Given the description of an element on the screen output the (x, y) to click on. 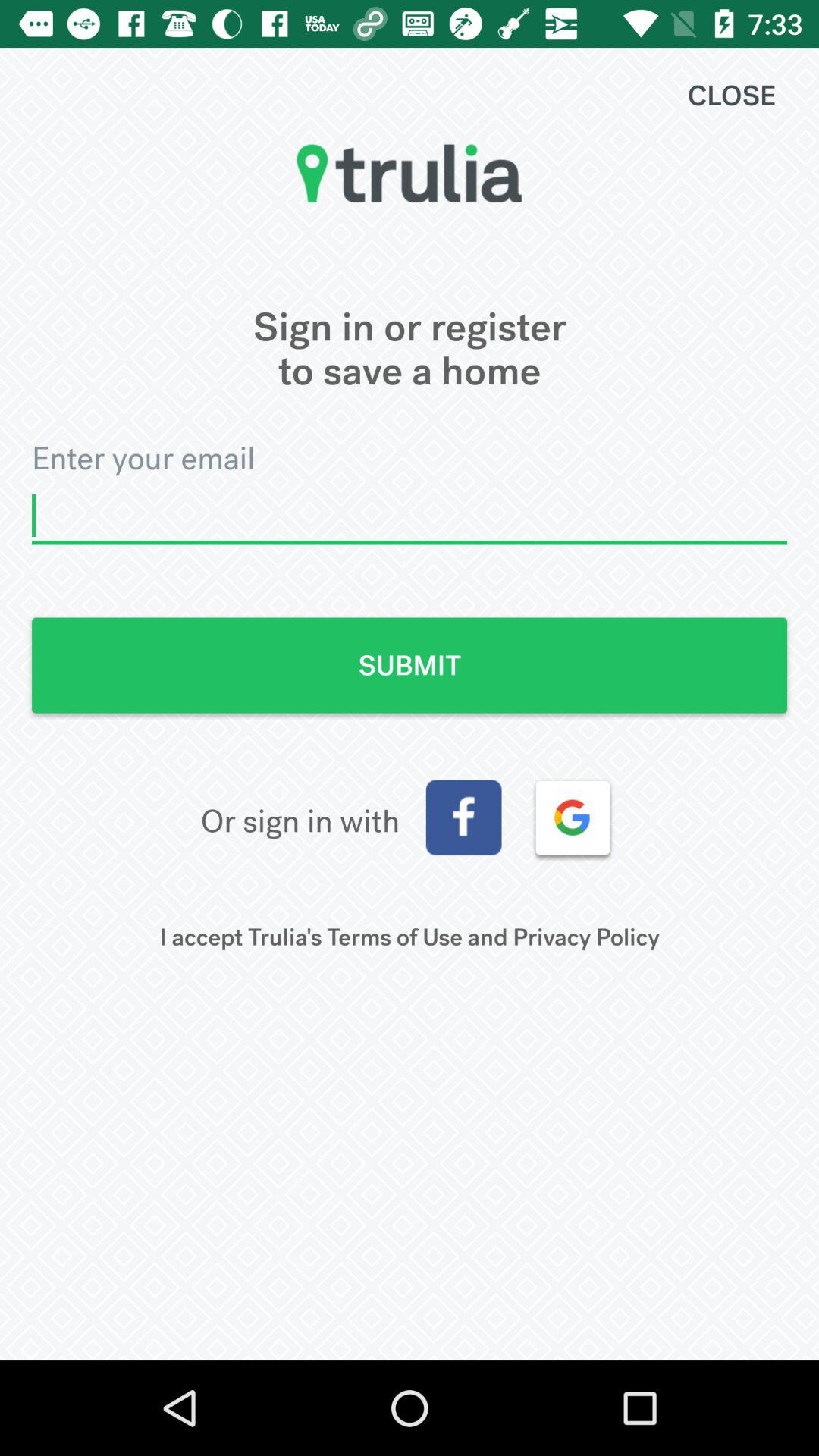
enter email address (409, 516)
